Given the description of an element on the screen output the (x, y) to click on. 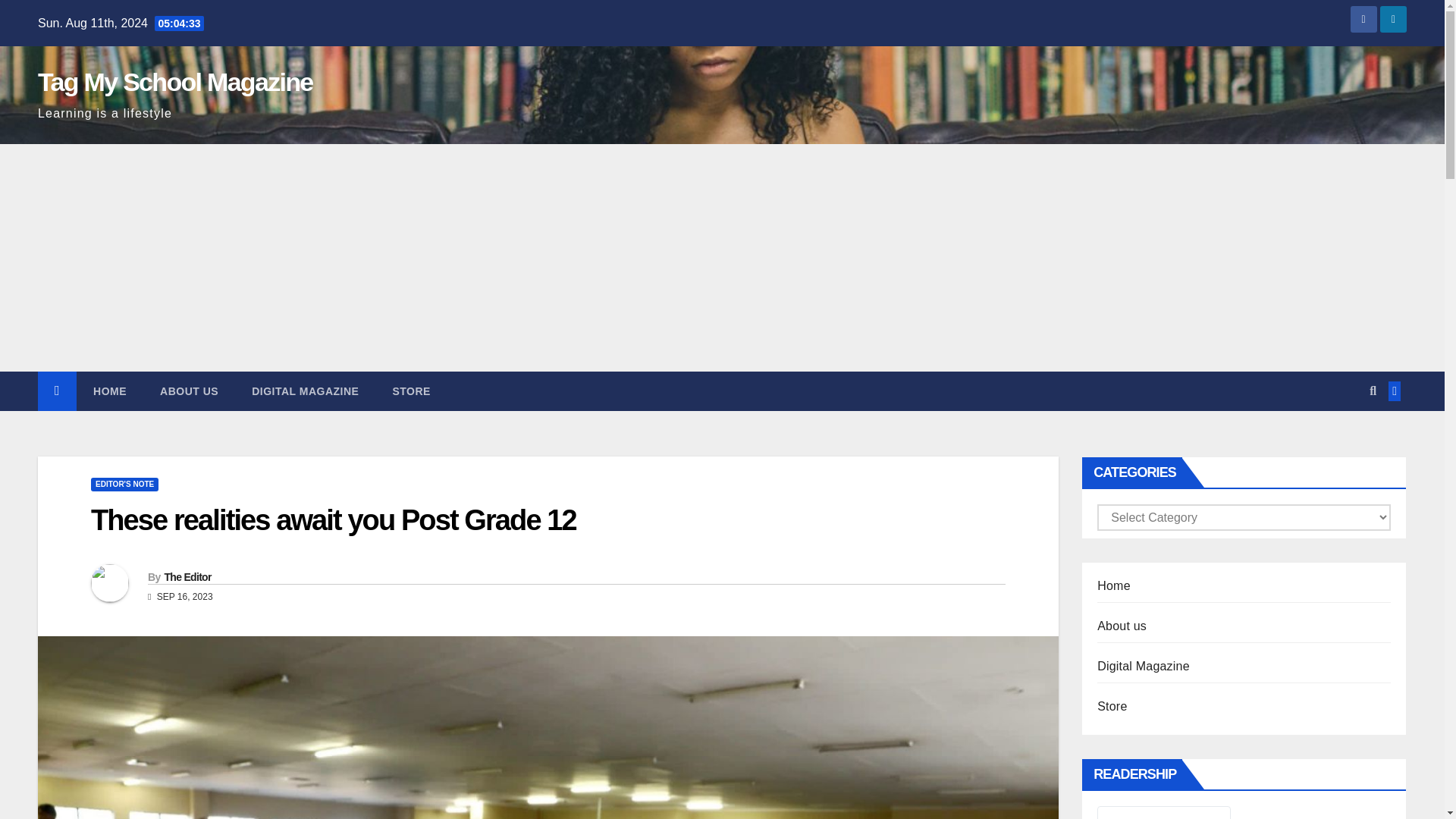
DIGITAL MAGAZINE (304, 391)
These realities await you Post Grade 12 (333, 520)
Digital Magazine (304, 391)
Home (109, 391)
STORE (410, 391)
About us (188, 391)
Tag My School Magazine (175, 81)
HOME (109, 391)
The Editor (187, 576)
